Given the description of an element on the screen output the (x, y) to click on. 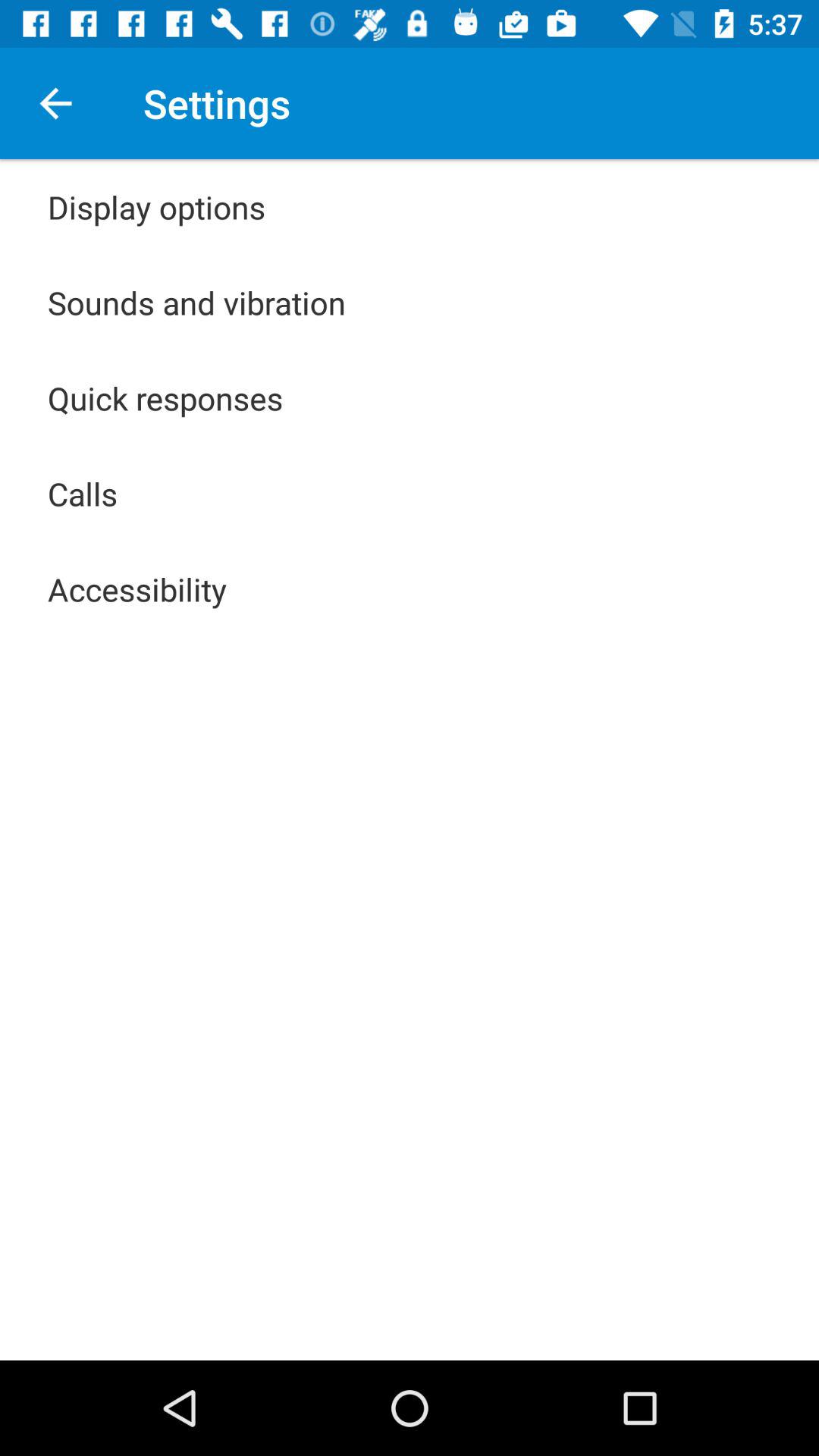
click icon above the calls icon (165, 397)
